Given the description of an element on the screen output the (x, y) to click on. 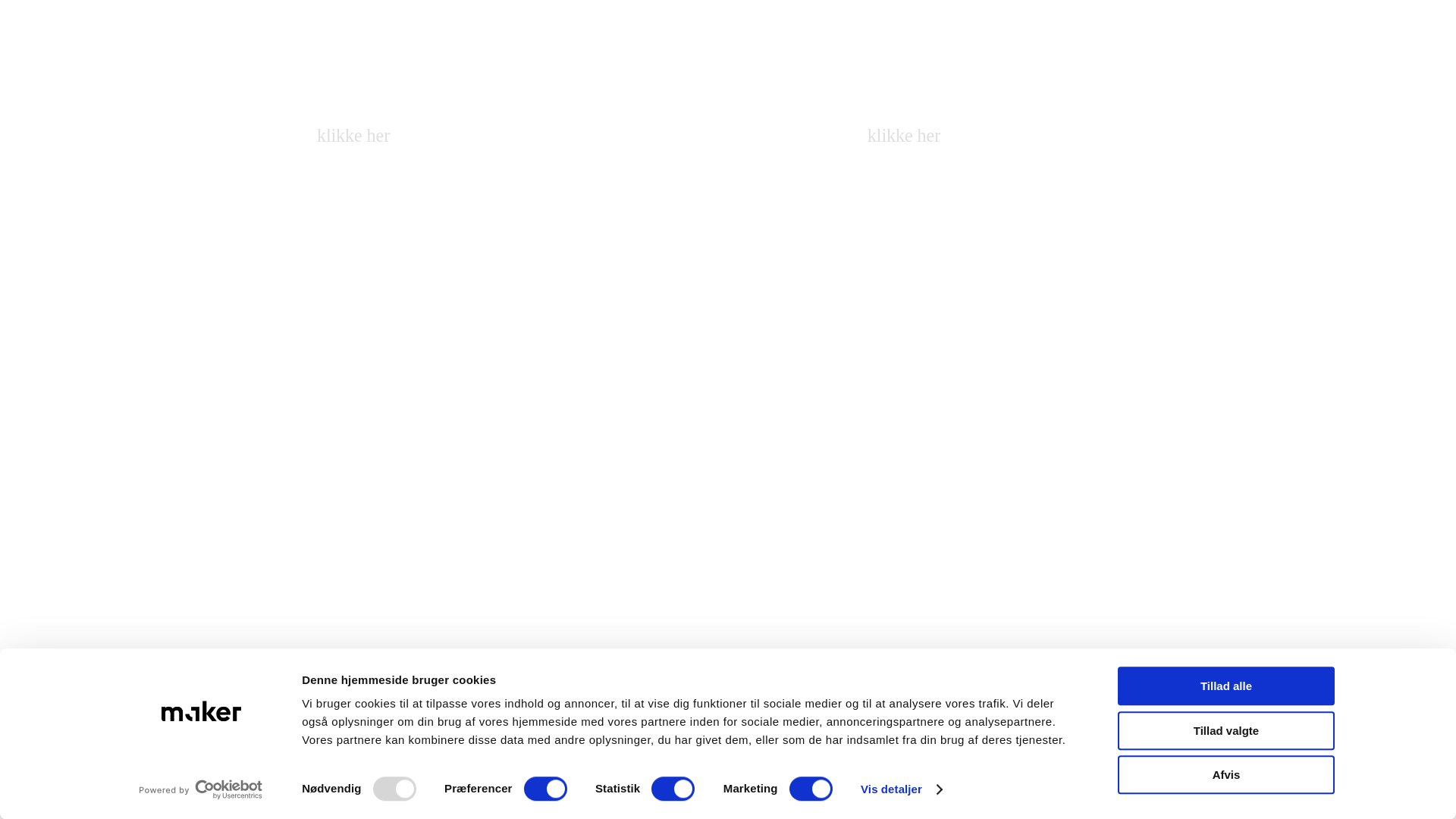
Vis detaljer (900, 789)
Tillad alle (1226, 685)
Tillad valgte (1226, 730)
Afvis (1226, 774)
